Given the description of an element on the screen output the (x, y) to click on. 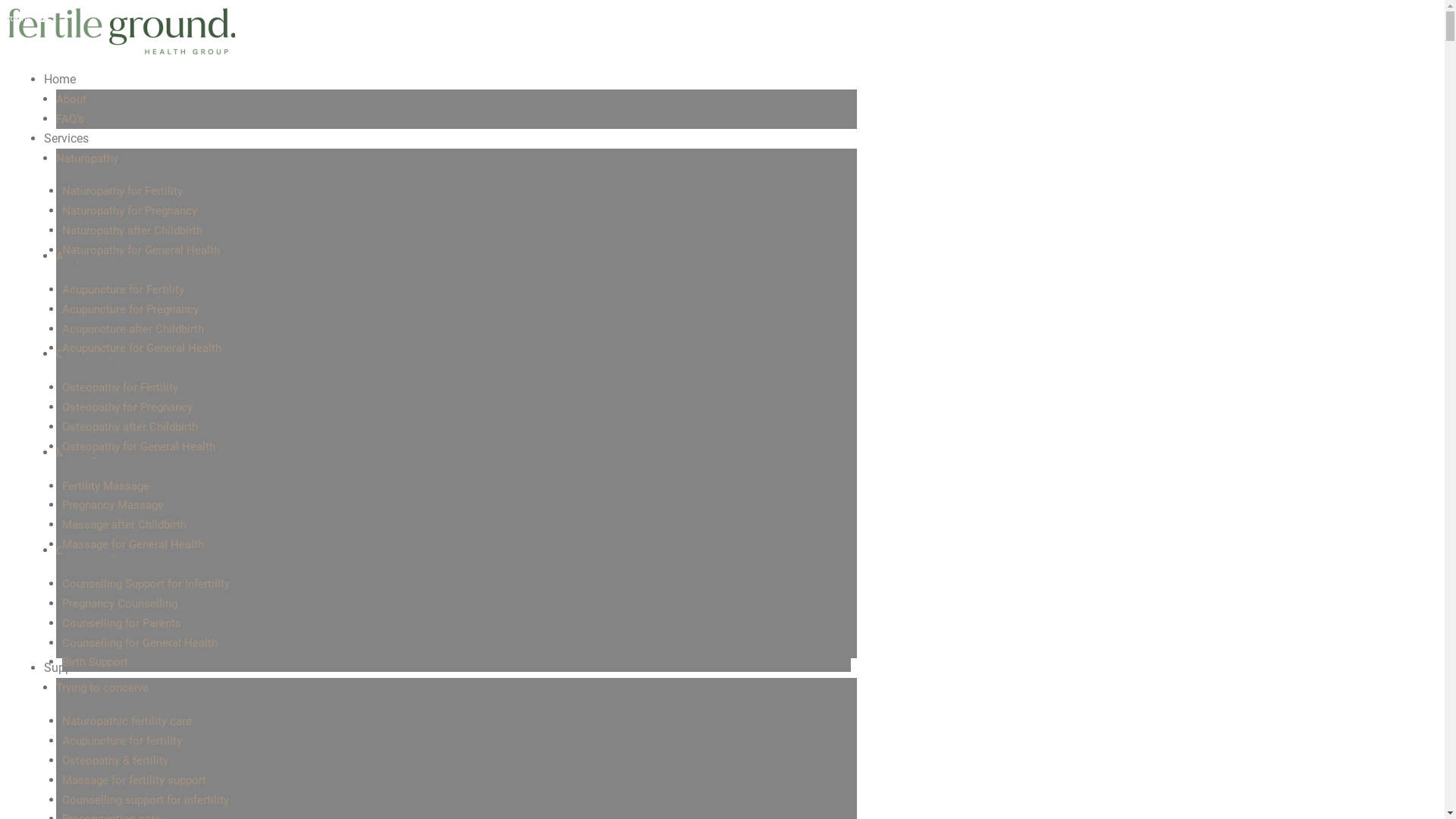
Fertility Massage Element type: text (105, 485)
Naturopathy for Fertility Element type: text (122, 190)
Osteopathy Element type: text (84, 353)
Services Element type: text (65, 138)
Counselling support for infertility Element type: text (145, 799)
About Element type: text (71, 99)
Home Element type: text (59, 79)
Naturopathy for Pregnancy Element type: text (129, 210)
Counselling for Parents Element type: text (121, 623)
Pregnancy Counselling Element type: text (119, 603)
Acupuncture after Childbirth Element type: text (132, 328)
Counselling Support for Infertility Element type: text (145, 583)
Acupuncture Element type: text (87, 256)
Naturopathy Element type: text (87, 158)
Acupuncture for General Health Element type: text (141, 347)
Pregnancy Massage Element type: text (112, 504)
Acupuncture for fertility Element type: text (122, 740)
Support Element type: text (64, 667)
Massage after Childbirth Element type: text (124, 524)
Osteopathy for General Health Element type: text (138, 446)
0 items Element type: text (24, 17)
Osteopathy for Fertility Element type: text (120, 387)
Osteopathy & fertility Element type: text (115, 760)
Counselling for General Health Element type: text (139, 642)
Naturopathy after Childbirth Element type: text (132, 230)
Naturopathic fertility care Element type: text (126, 721)
Massage for fertility support Element type: text (134, 780)
Osteopathy for Pregnancy Element type: text (127, 407)
Naturopathy for General Health Element type: text (140, 250)
Osteopathy after Childbirth Element type: text (129, 426)
Birth Support Element type: text (95, 661)
Counselling Element type: text (86, 550)
Massage Element type: text (79, 452)
Acupuncture for Pregnancy Element type: text (130, 309)
Trying to conceive Element type: text (102, 687)
Acupuncture for Fertility Element type: text (123, 289)
Massage for General Health Element type: text (132, 544)
